Given the description of an element on the screen output the (x, y) to click on. 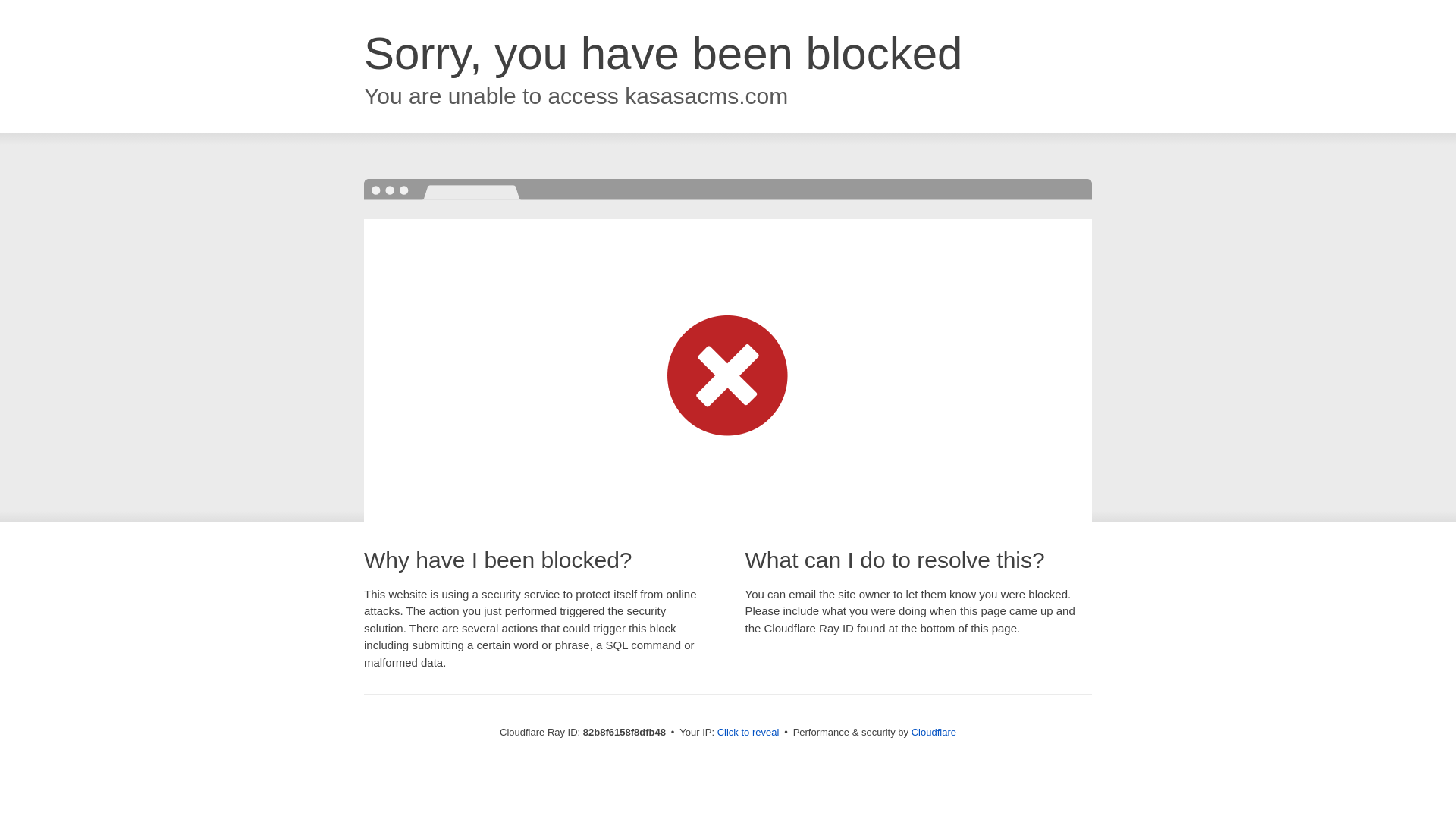
Click to reveal Element type: text (748, 732)
Cloudflare Element type: text (933, 731)
